Given the description of an element on the screen output the (x, y) to click on. 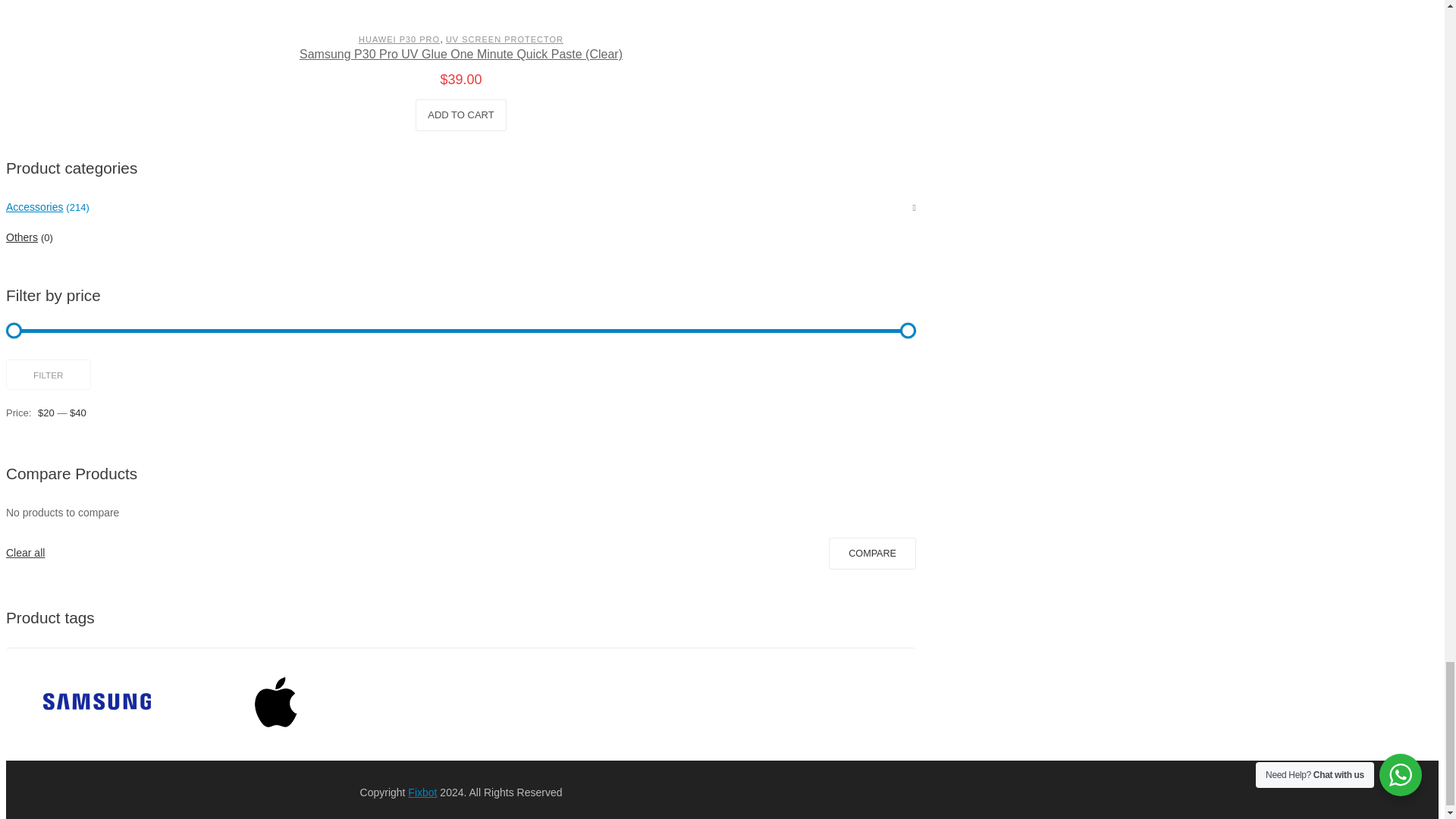
Apple (278, 703)
Samsung (96, 703)
